Given the description of an element on the screen output the (x, y) to click on. 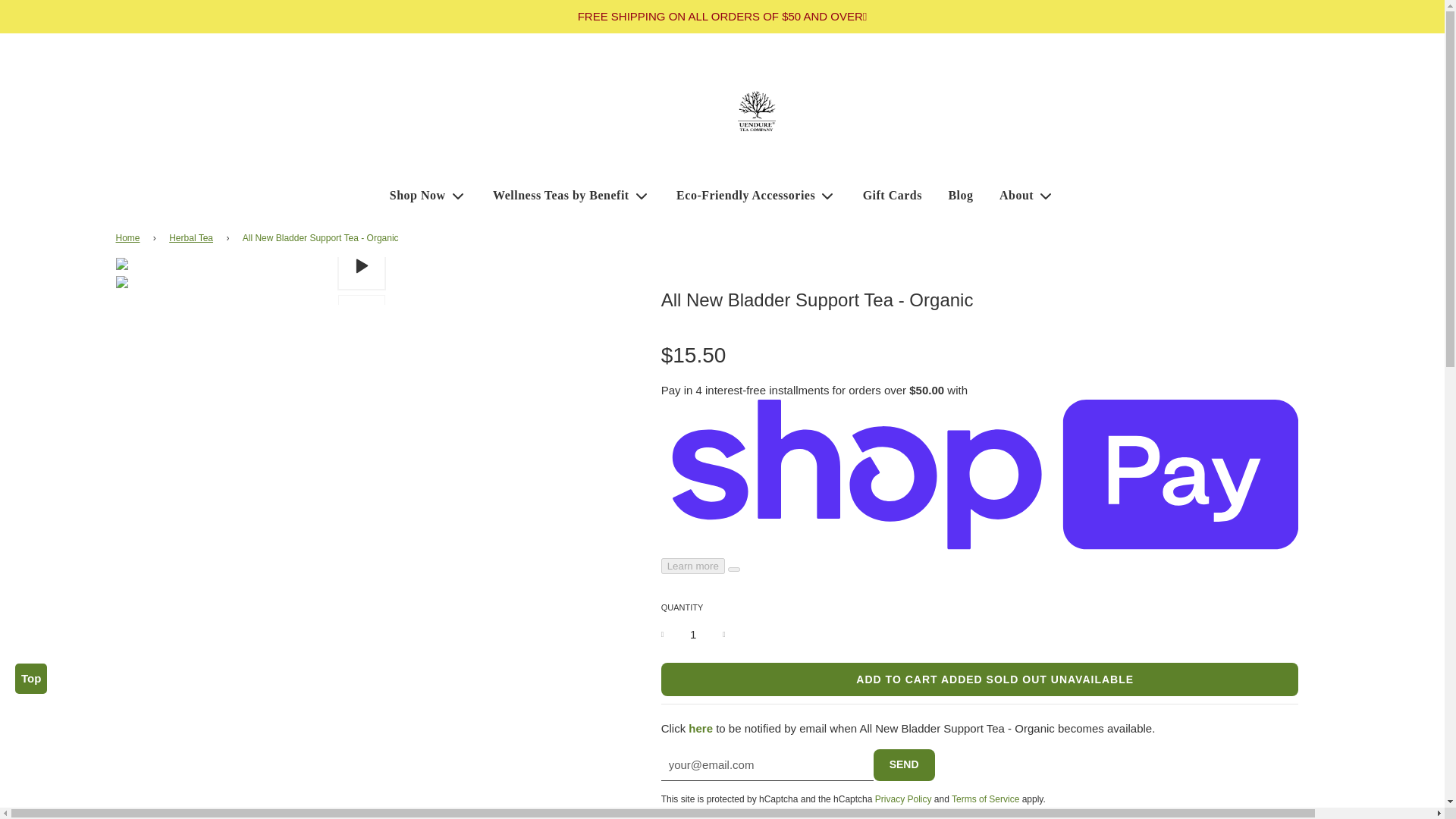
Back to the frontpage (129, 237)
Send (903, 765)
1 (693, 634)
